Given the description of an element on the screen output the (x, y) to click on. 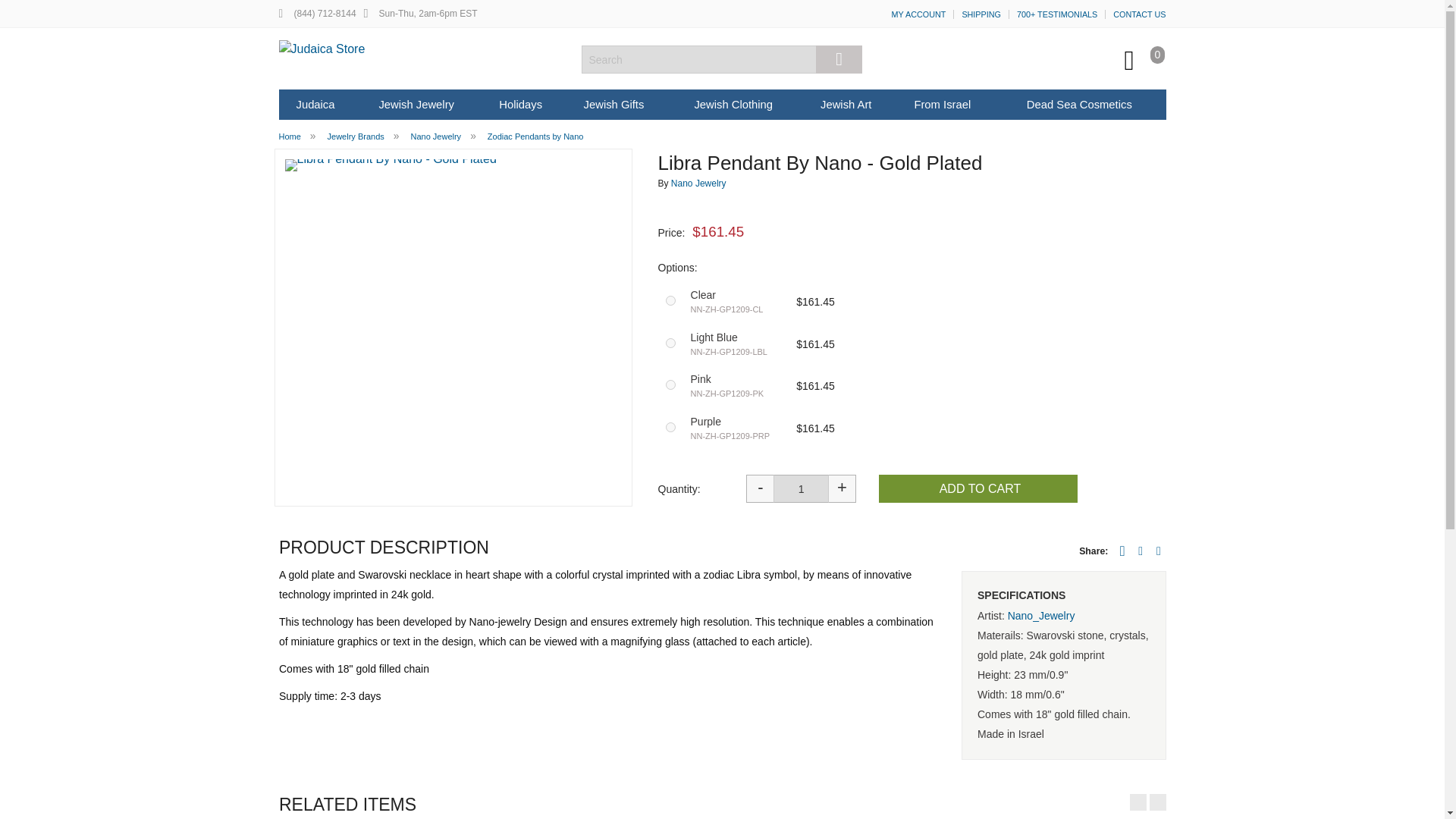
Book Shtenders (610, 229)
Havdalah Sets (485, 209)
Kiddush Cups (485, 188)
Jewish Jewelry (416, 104)
Tefillin (357, 229)
Mezuzah Cases (735, 170)
NN-ZH-GP1209-PK (670, 384)
Torah Scrolls (610, 271)
Candlesticks (485, 166)
Challah Covers (485, 250)
Havdalah Candles (485, 229)
NN-ZH-GP1209-CL (670, 300)
Jewish Rings (431, 166)
Judaica (315, 104)
Tzedakah Boxes (610, 250)
